Given the description of an element on the screen output the (x, y) to click on. 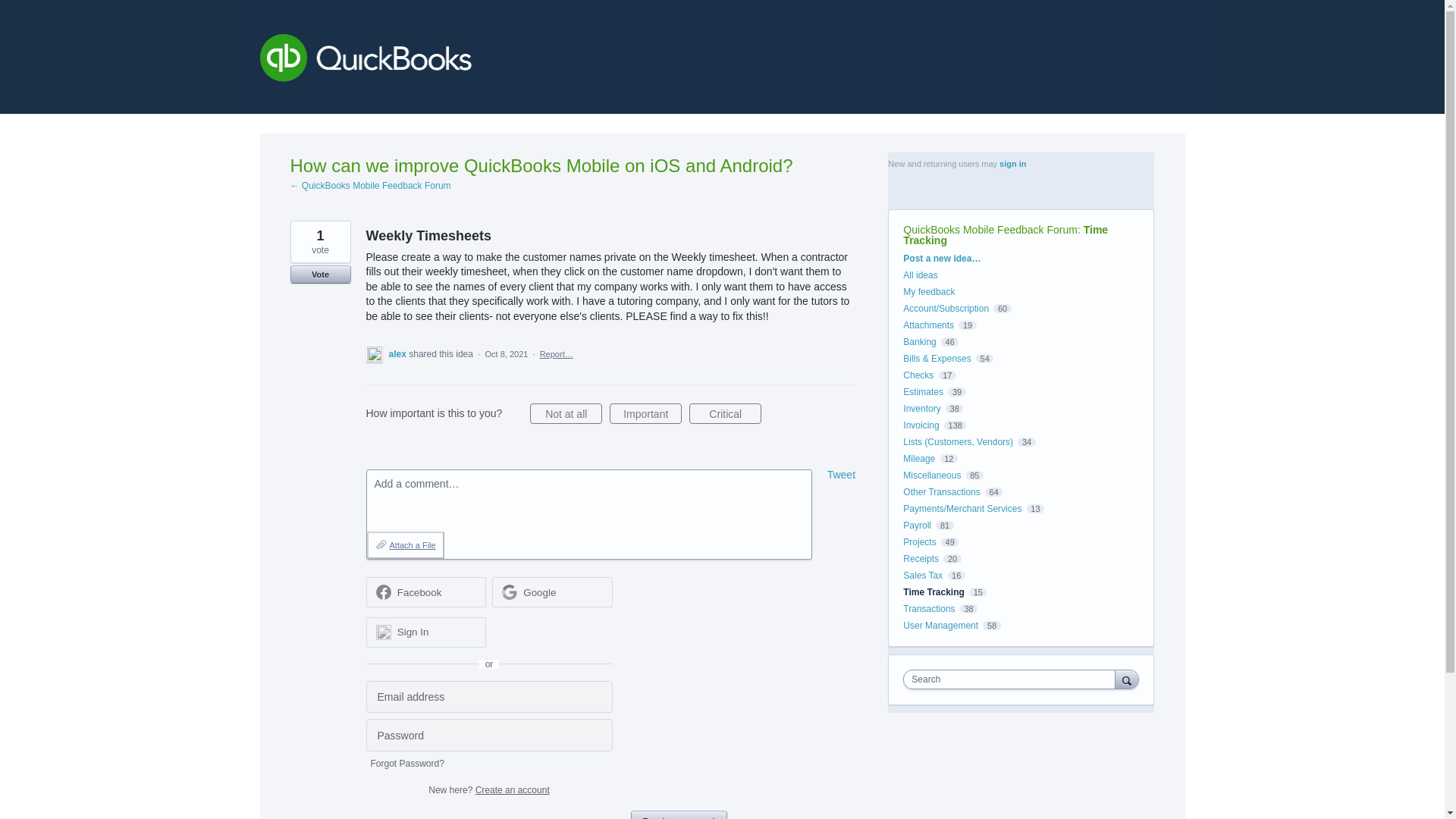
alex (398, 353)
Google (552, 592)
Vote (319, 274)
Facebook (419, 592)
Attach a File (405, 544)
Forgot Password? (406, 763)
Customer Feedback for QuickBooks Online (476, 60)
Sign In (425, 632)
Facebook (425, 592)
Facebook sign in (425, 592)
Not at all (565, 413)
Tweet (841, 474)
Critical (724, 413)
Skip to content (12, 12)
Important (645, 413)
